Given the description of an element on the screen output the (x, y) to click on. 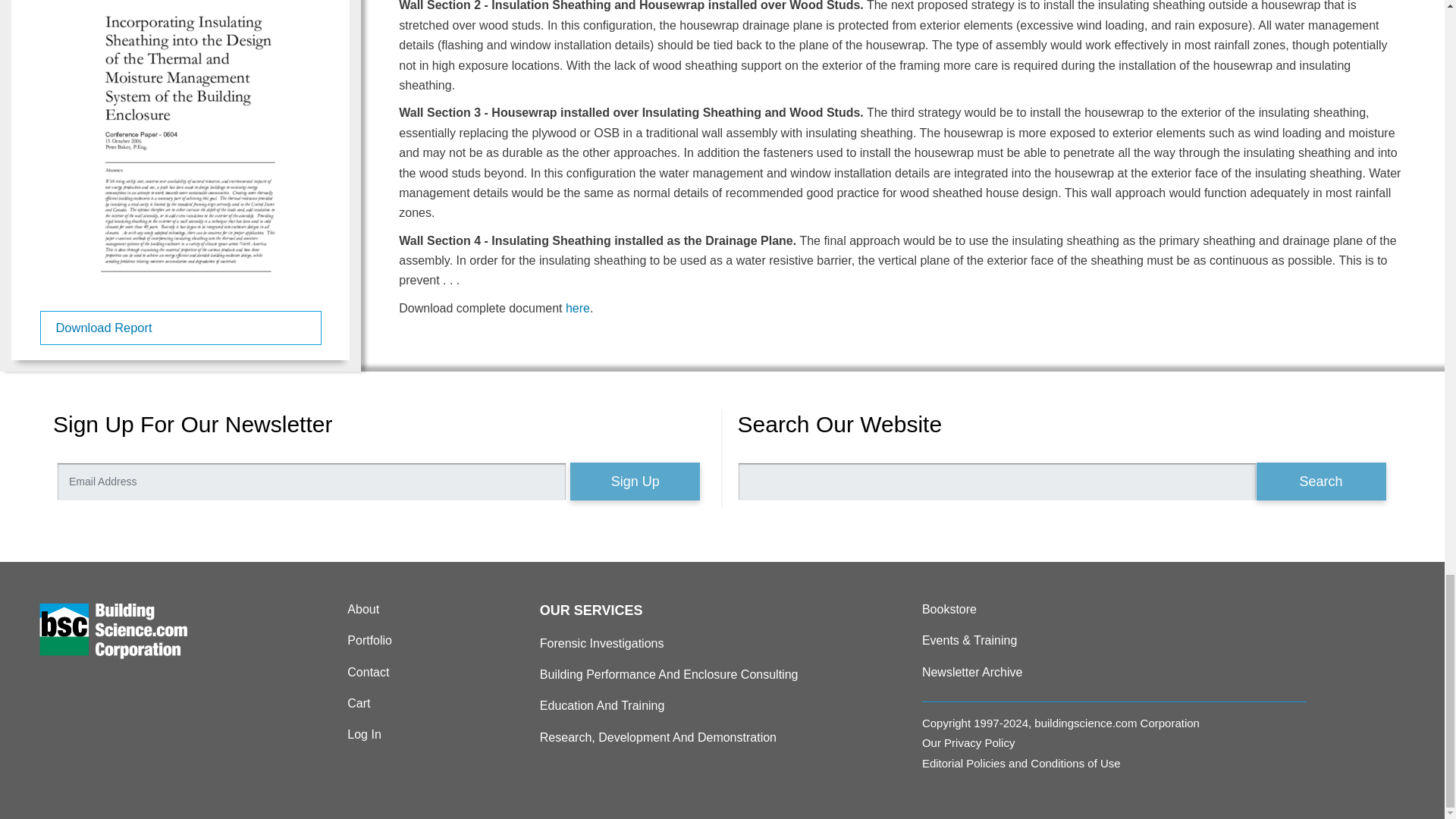
Sign Up (635, 481)
Education and Training (724, 705)
Building Performance and Enclosure Consulting (724, 674)
Research, Development and Demonstration (724, 737)
Enter the terms you wish to search for. (995, 481)
Search (1320, 481)
